Given the description of an element on the screen output the (x, y) to click on. 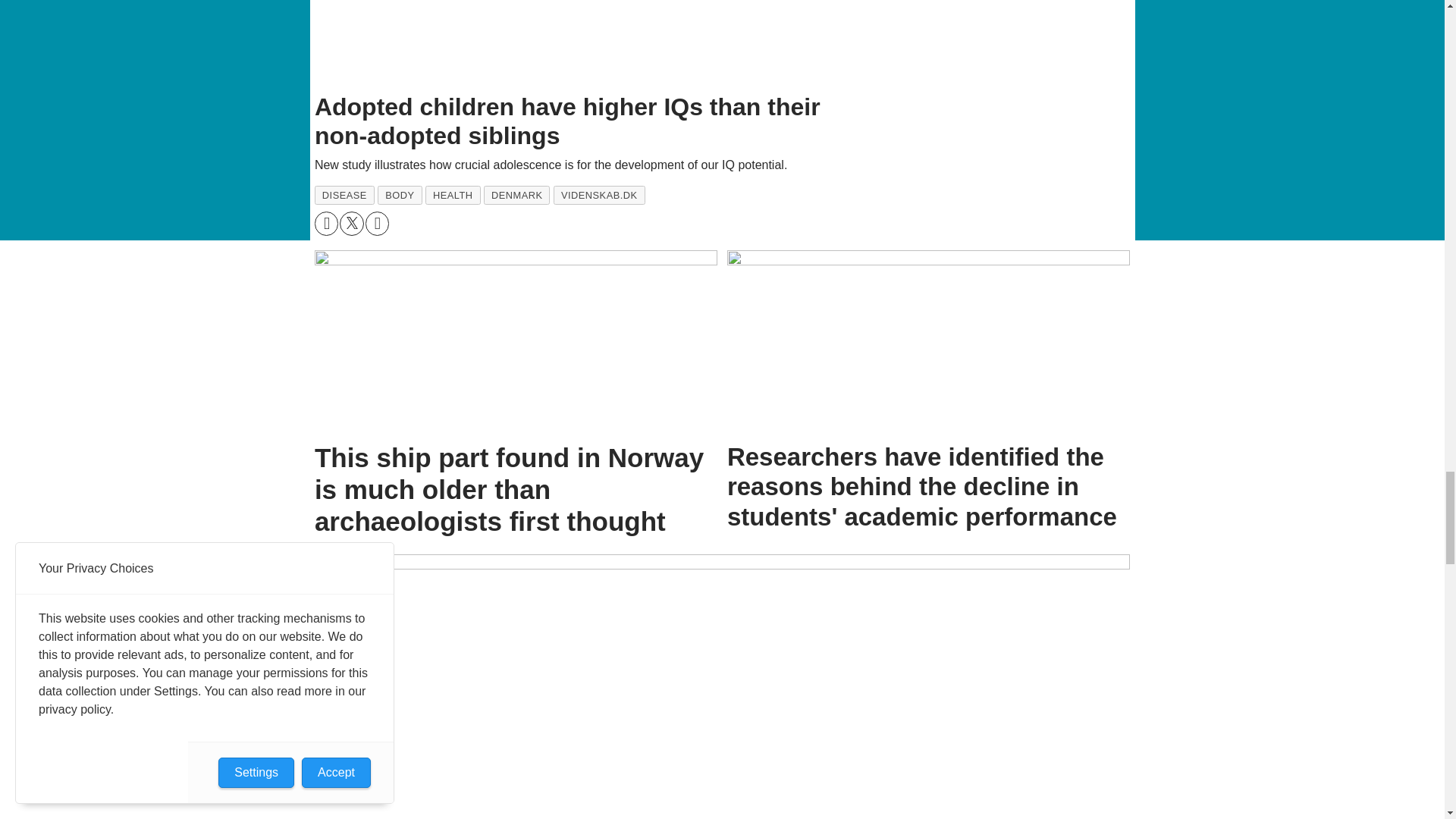
HEALTH (452, 194)
VIDENSKAB.DK (599, 194)
BODY (399, 194)
DISEASE (344, 194)
DENMARK (516, 194)
